Given the description of an element on the screen output the (x, y) to click on. 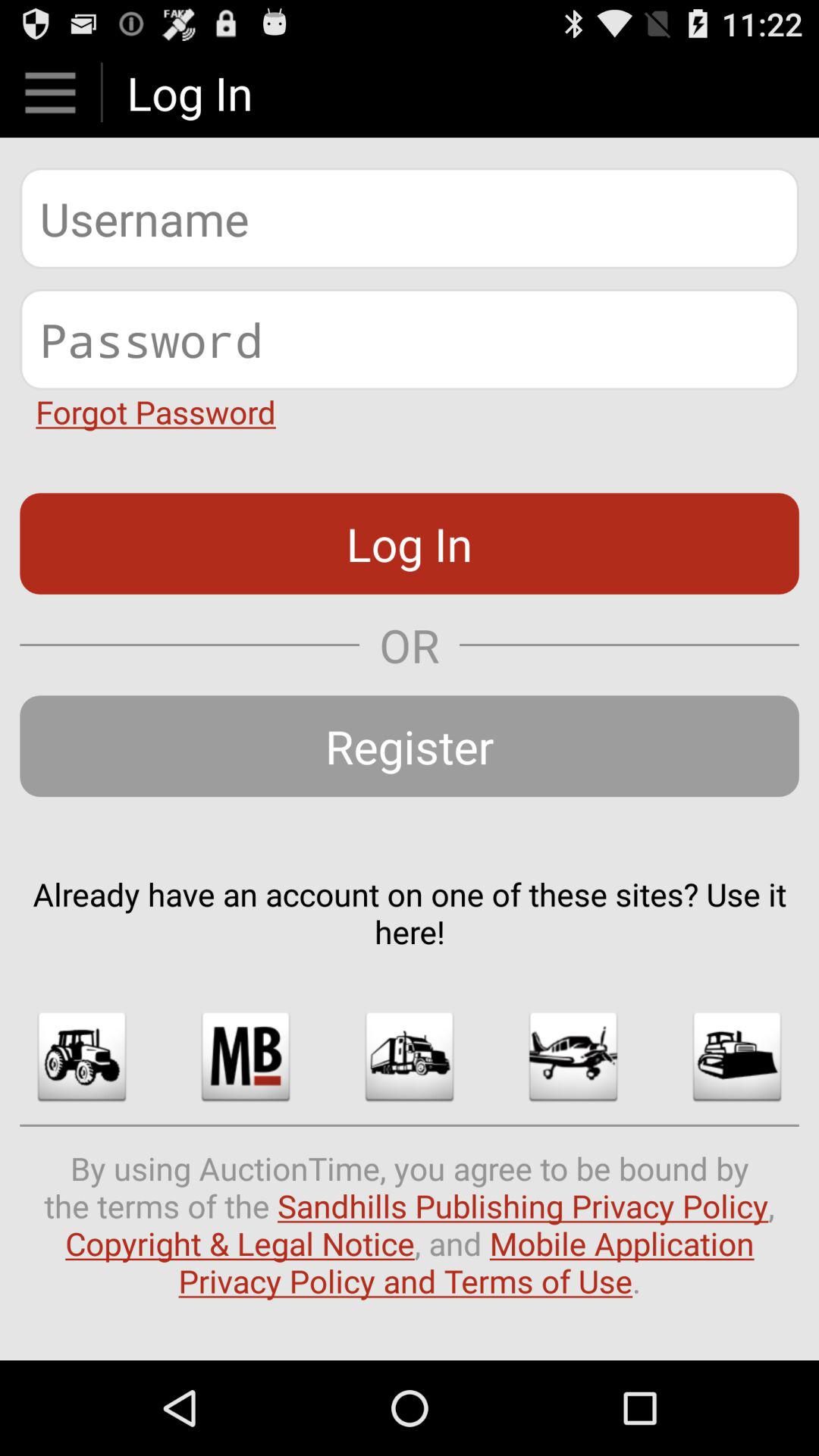
turn on the icon below the already have an item (573, 1056)
